Given the description of an element on the screen output the (x, y) to click on. 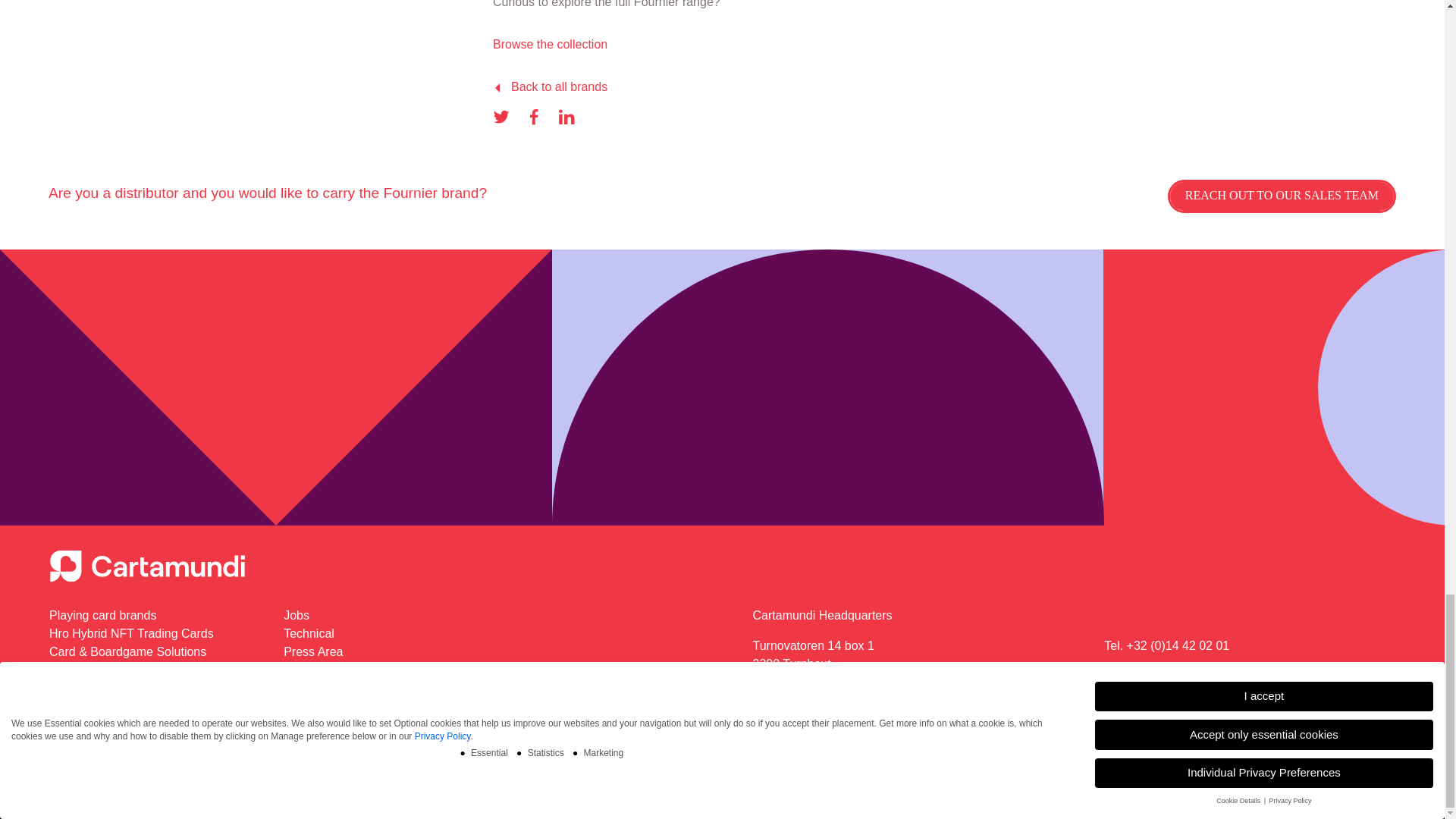
Vimeo (89, 787)
LinkedIn (60, 787)
